Given the description of an element on the screen output the (x, y) to click on. 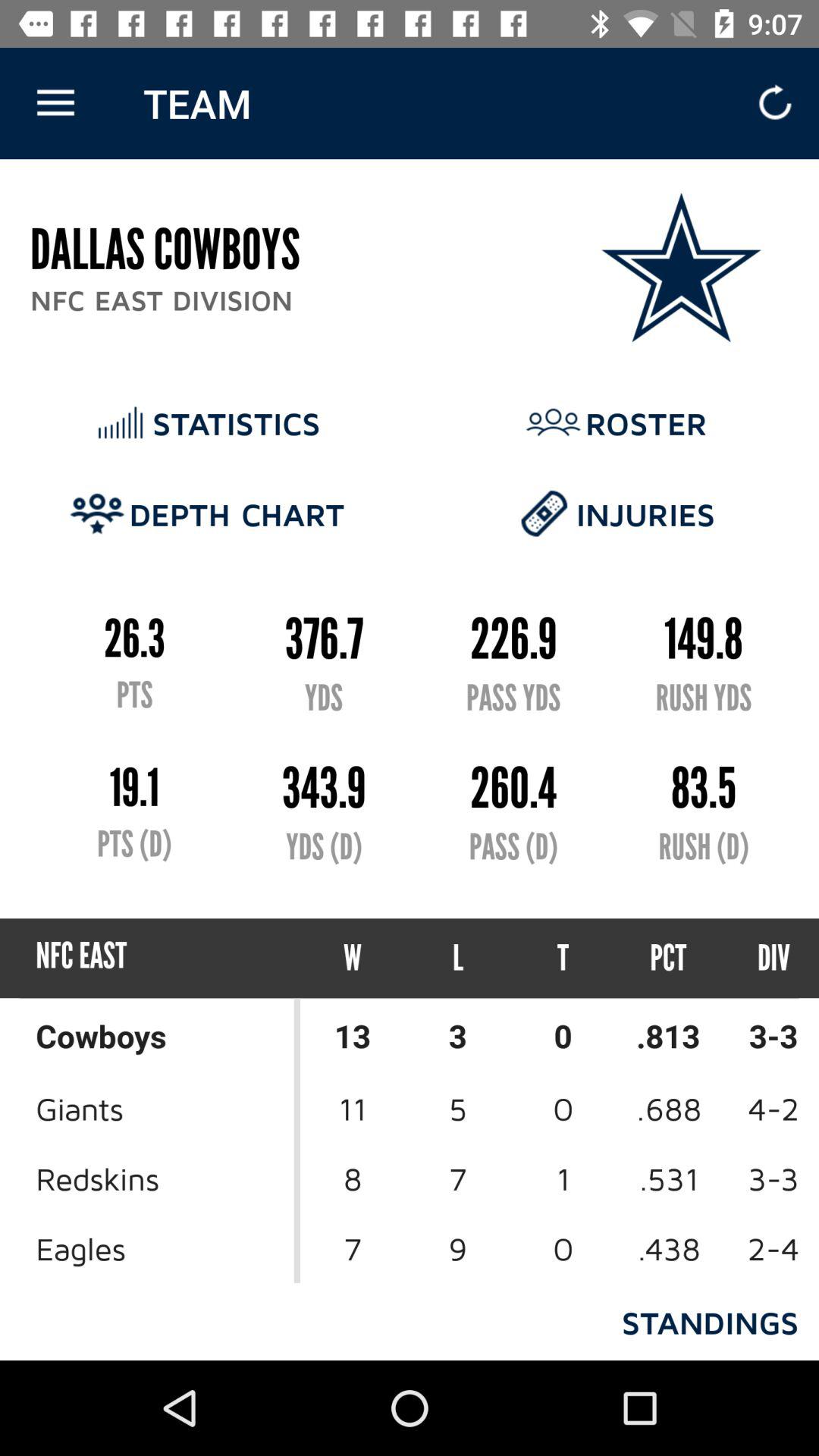
select the icon to the right of the pct item (760, 958)
